Given the description of an element on the screen output the (x, y) to click on. 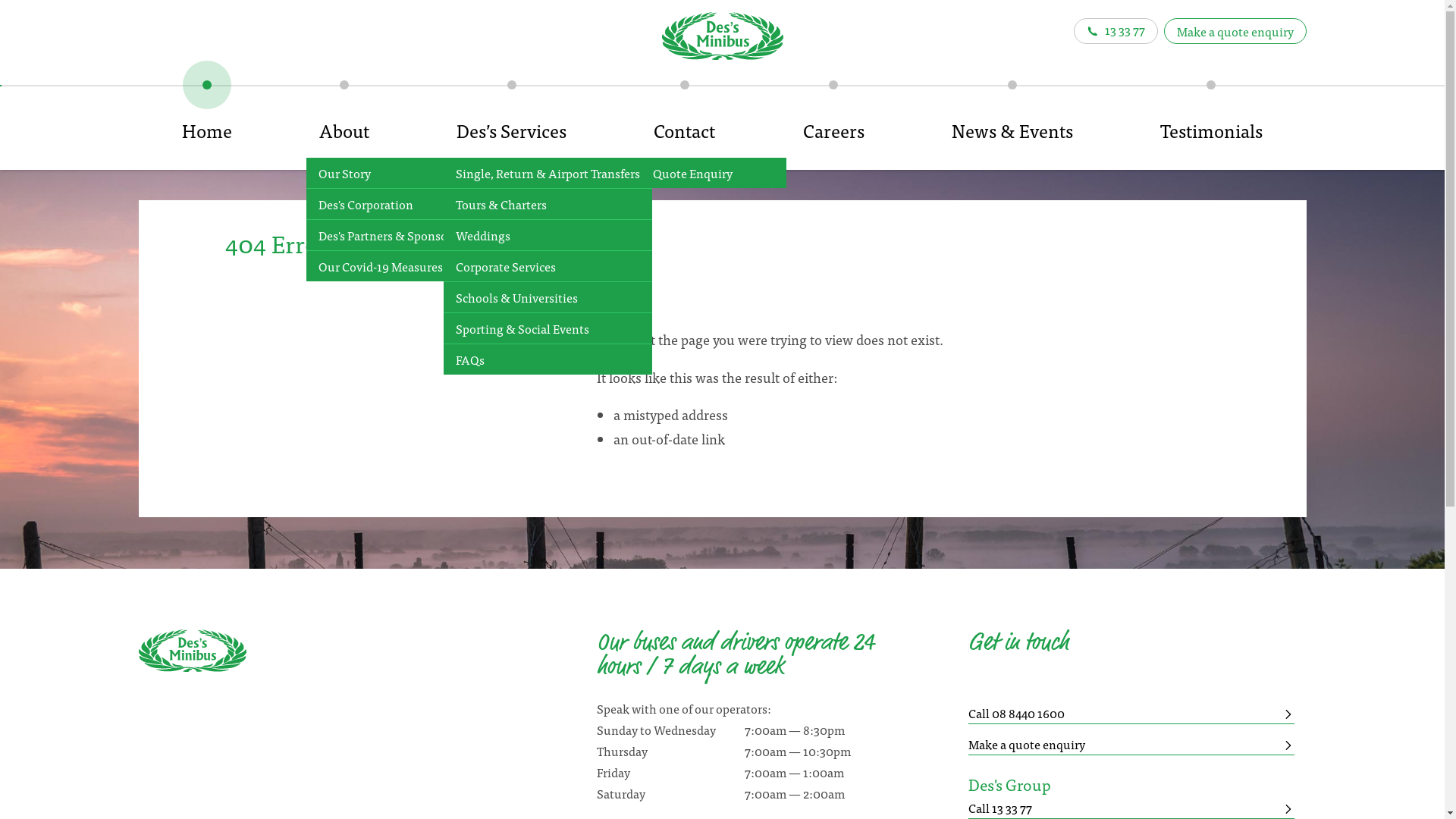
Call 08 8440 1600 Element type: text (1130, 713)
Corporate Services Element type: text (547, 266)
Home Element type: text (206, 120)
13 33 77 Element type: text (1115, 30)
Our Story Element type: text (399, 172)
Quote Enquiry Element type: text (713, 172)
Testimonials Element type: text (1210, 120)
Sporting & Social Events Element type: text (547, 328)
Des's Partners & Sponsorships Element type: text (399, 235)
About Element type: text (344, 120)
Careers Element type: text (833, 120)
News & Events Element type: text (1011, 120)
Des's Corporation Element type: text (399, 203)
Weddings Element type: text (547, 235)
Make a quote enquiry Element type: text (1130, 744)
Our Covid-19 Measures Element type: text (399, 266)
Tours & Charters Element type: text (547, 203)
FAQs Element type: text (547, 359)
Make a quote enquiry Element type: text (1234, 30)
Single, Return & Airport Transfers Element type: text (547, 172)
Contact Element type: text (684, 120)
Schools & Universities Element type: text (547, 297)
